Given the description of an element on the screen output the (x, y) to click on. 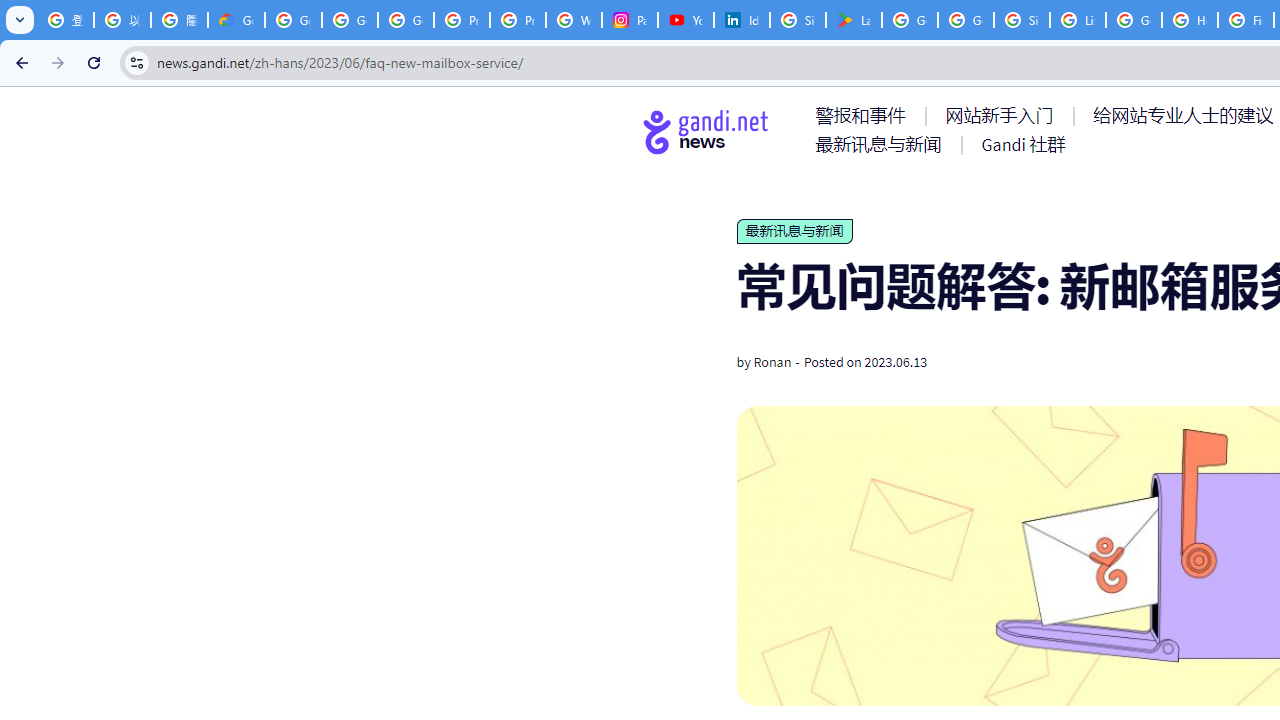
Privacy Help Center - Policies Help (461, 20)
AutomationID: menu-item-77761 (863, 115)
AutomationID: menu-item-77767 (1022, 143)
How do I create a new Google Account? - Google Account Help (1190, 20)
Ronan (772, 362)
Identity verification via Persona | LinkedIn Help (742, 20)
AutomationID: menu-item-77766 (882, 143)
